Given the description of an element on the screen output the (x, y) to click on. 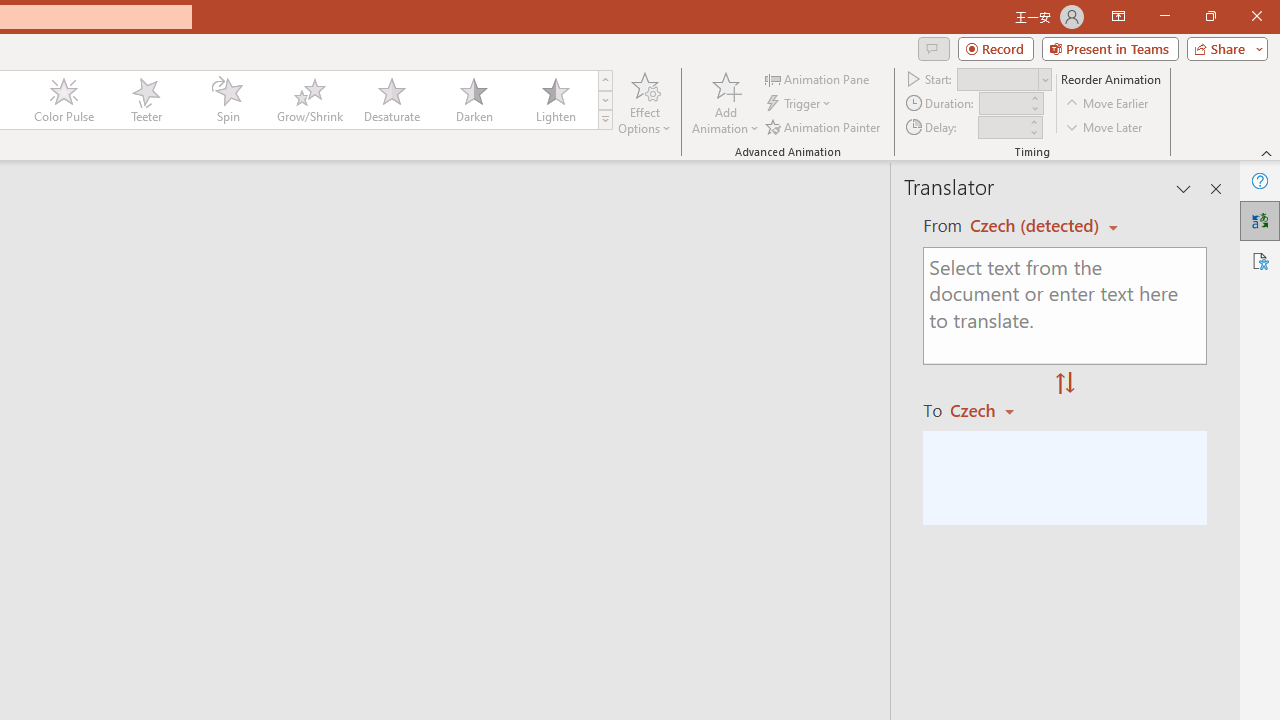
Animation Painter (824, 126)
Animation Delay (1002, 127)
Animation Duration (1003, 103)
Move Later (1105, 126)
Grow/Shrink (309, 100)
